Given the description of an element on the screen output the (x, y) to click on. 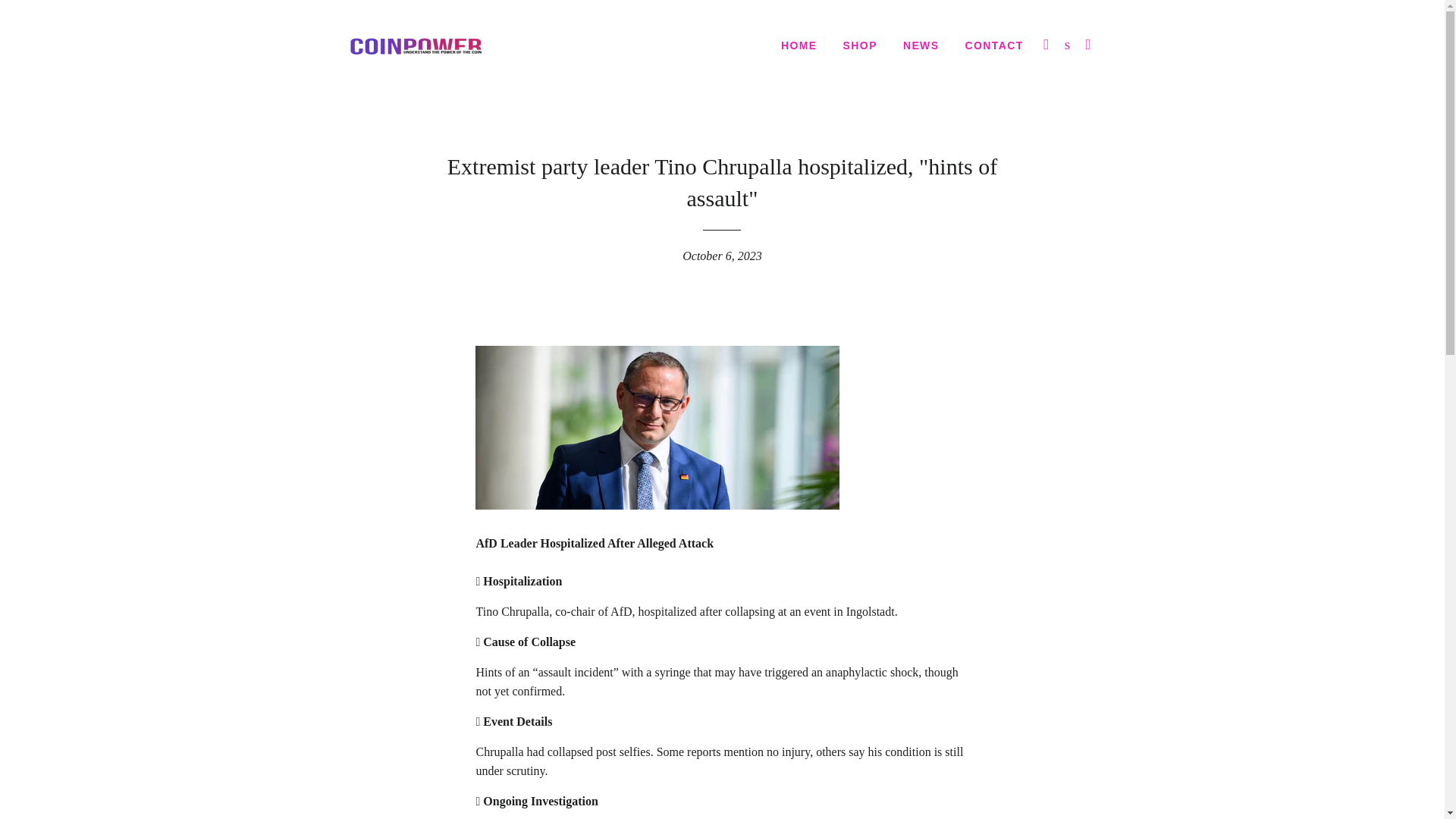
NEWS (920, 46)
HOME (799, 46)
SHOP (859, 46)
CONTACT (993, 46)
